Given the description of an element on the screen output the (x, y) to click on. 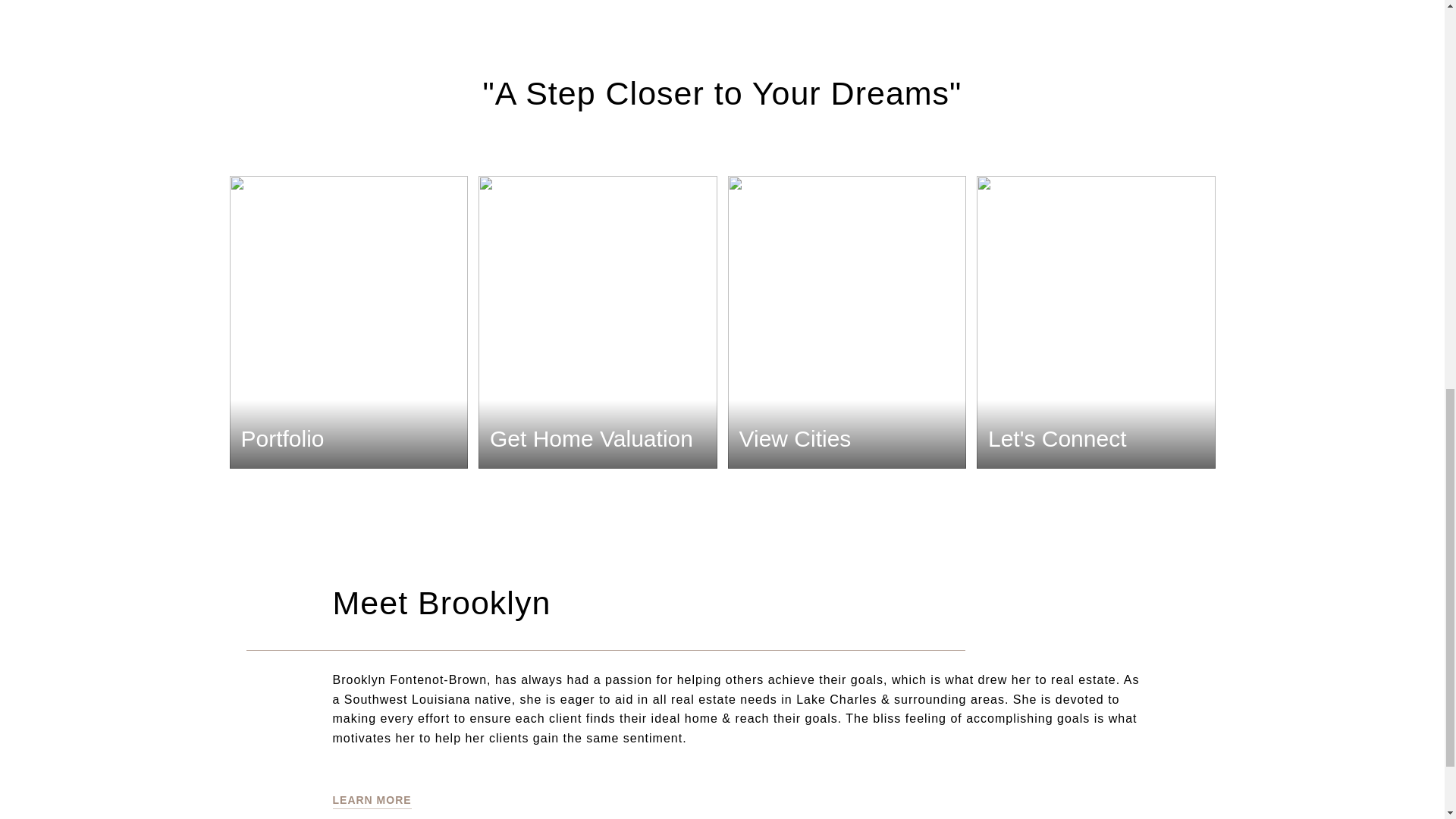
LEARN MORE (370, 800)
